Given the description of an element on the screen output the (x, y) to click on. 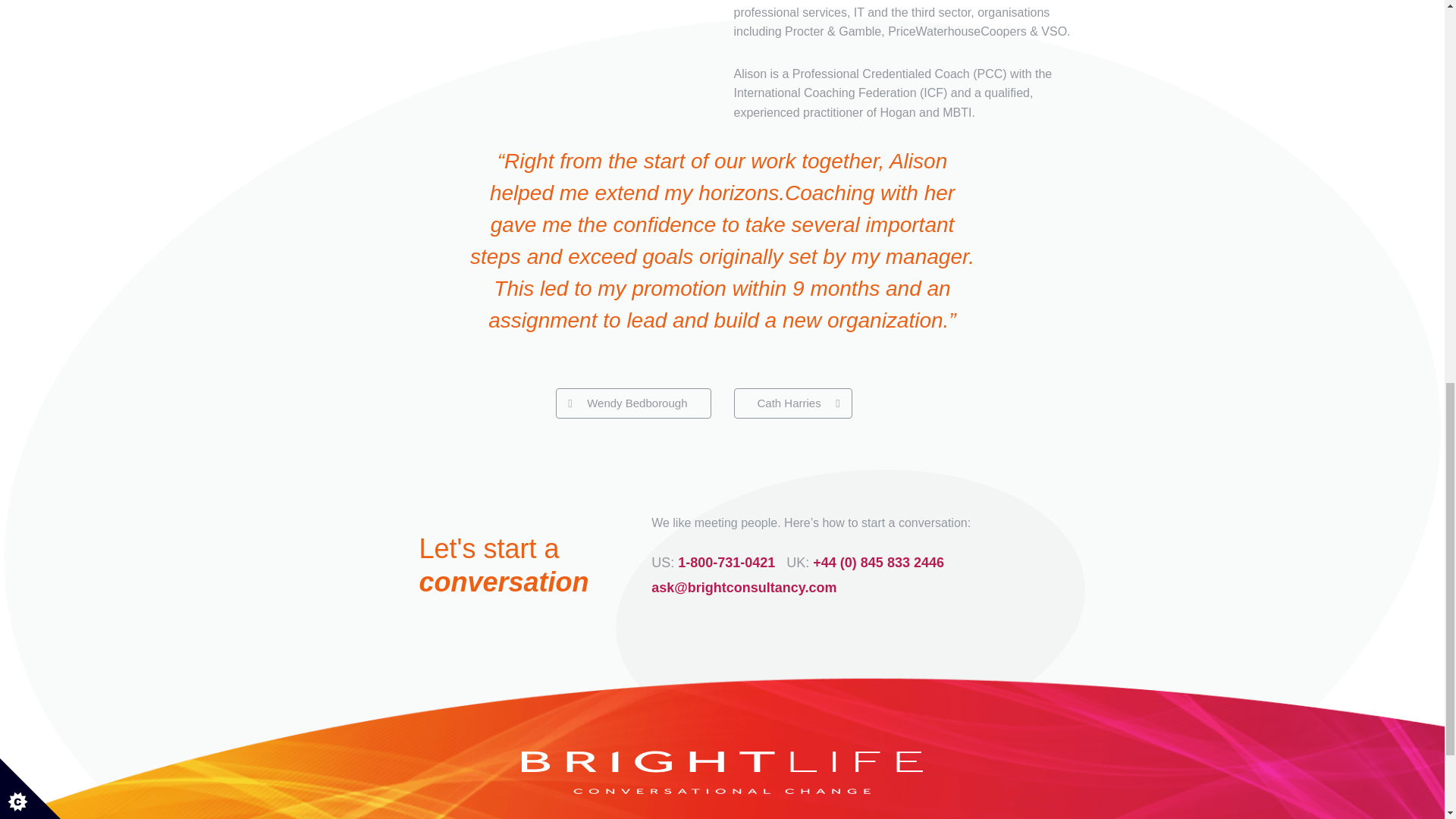
Cath Harries (792, 403)
Wendy Bedborough (633, 403)
1-800-731-0421 (726, 562)
